Given the description of an element on the screen output the (x, y) to click on. 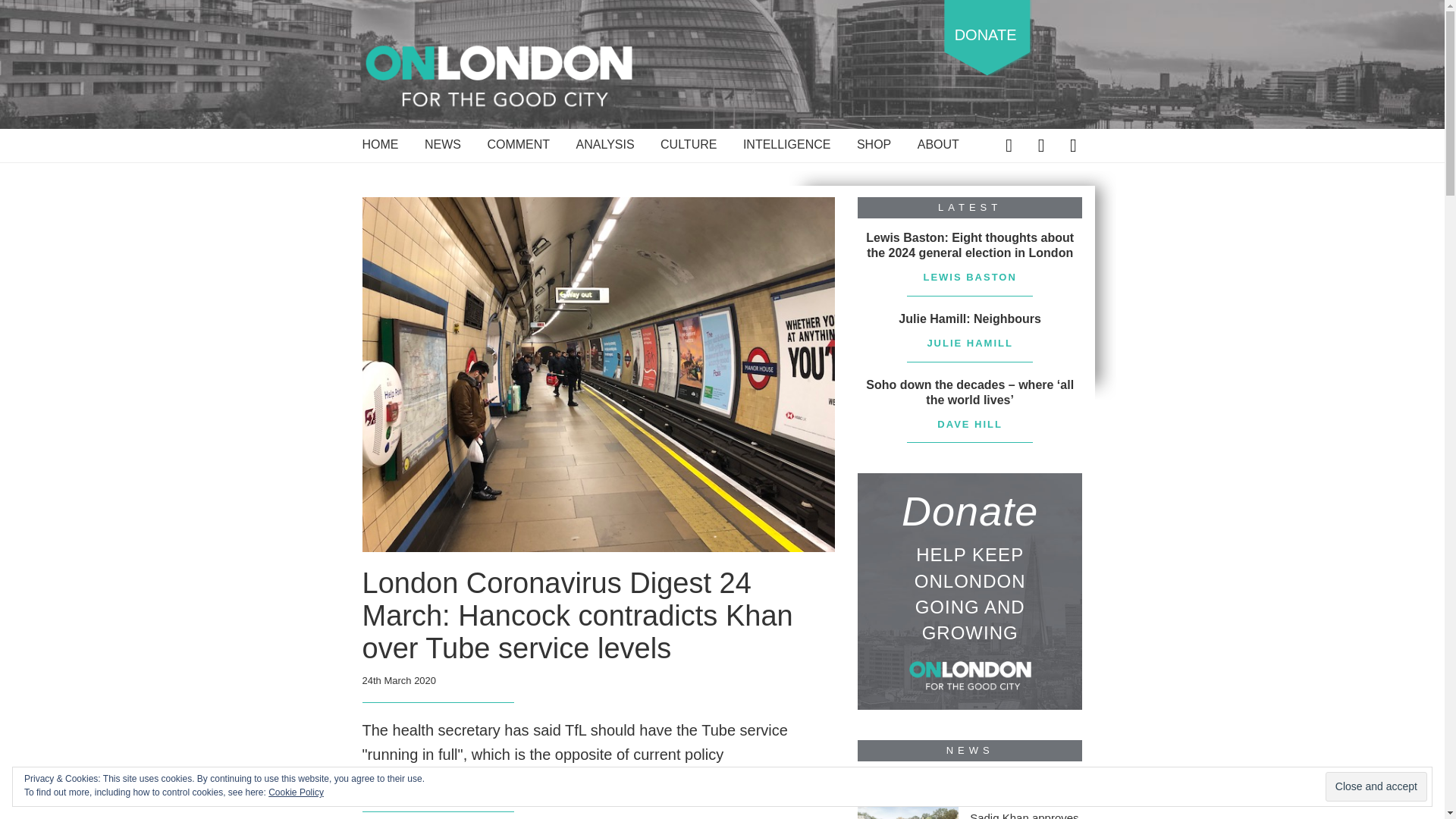
SHOP (874, 147)
DAVE HILL (389, 788)
INTELLIGENCE (786, 147)
Sadiq Khan approves Green Belt housing scheme (1025, 814)
ANALYSIS (605, 147)
NEWS (443, 147)
OnLondon - For The Good City (498, 74)
COMMENT (518, 147)
CULTURE (688, 147)
HOME (380, 147)
Close and accept (1375, 786)
ABOUT (938, 147)
Sadiq Khan approves Green Belt housing scheme (907, 796)
DONATE (985, 38)
